Given the description of an element on the screen output the (x, y) to click on. 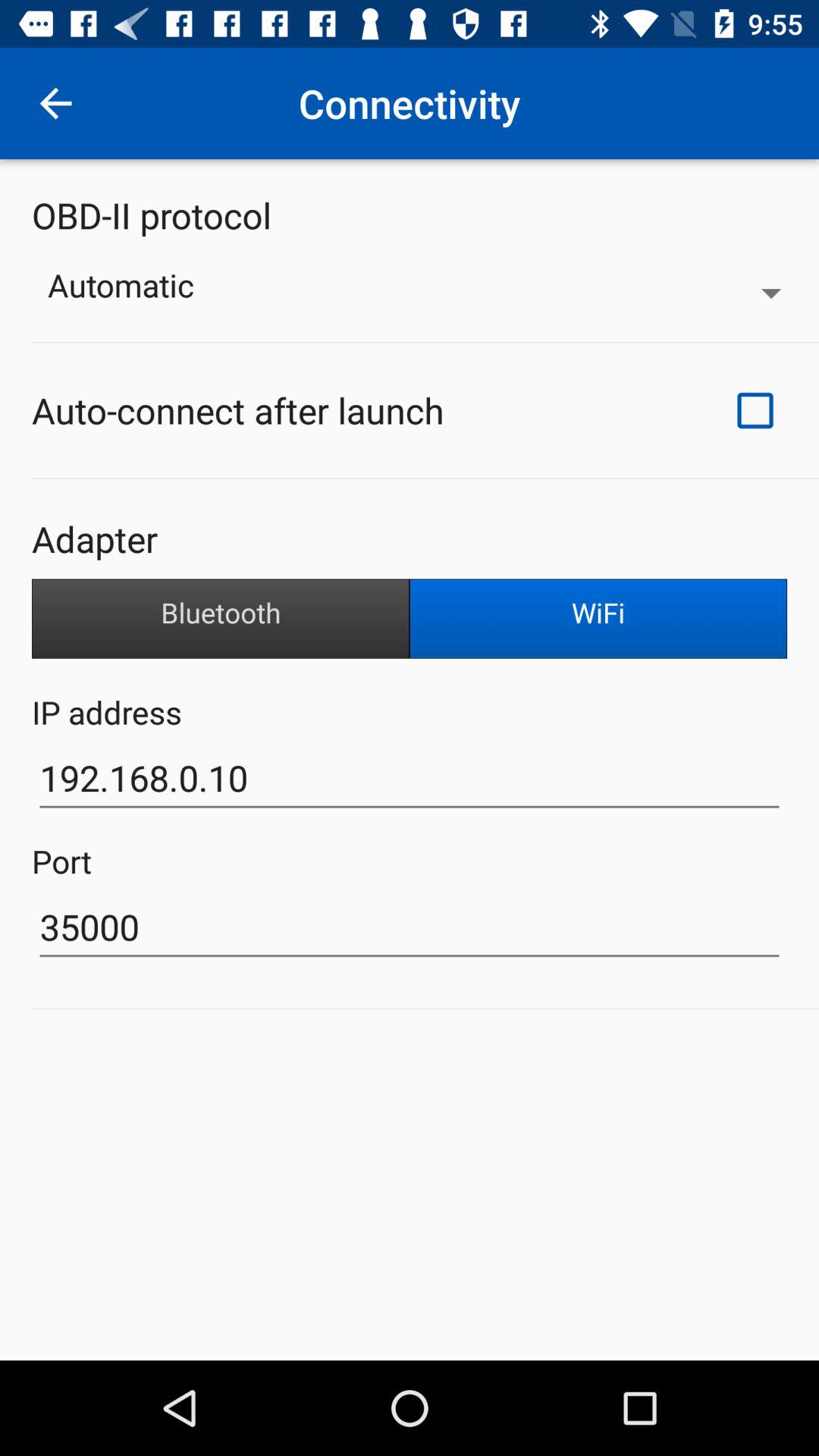
tap the 35000 item (409, 927)
